Given the description of an element on the screen output the (x, y) to click on. 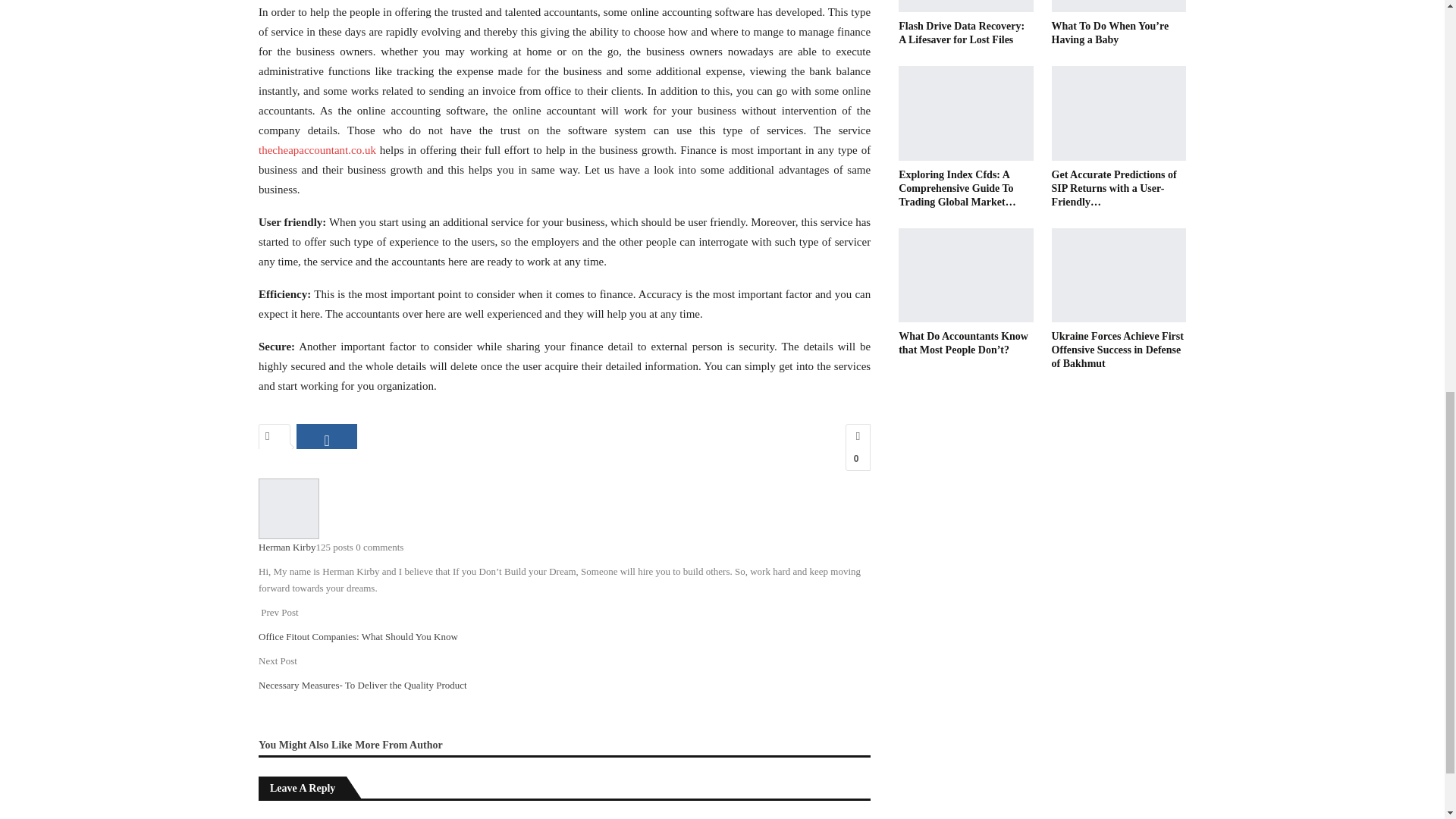
More From Author (398, 744)
Browse Author Articles (288, 507)
Herman Kirby (287, 546)
Office Fitout Companies: What Should You Know (358, 636)
Necessary Measures- To Deliver the Quality Product (363, 685)
thecheapaccountant.co.uk (317, 150)
You Might Also Like (307, 744)
